Given the description of an element on the screen output the (x, y) to click on. 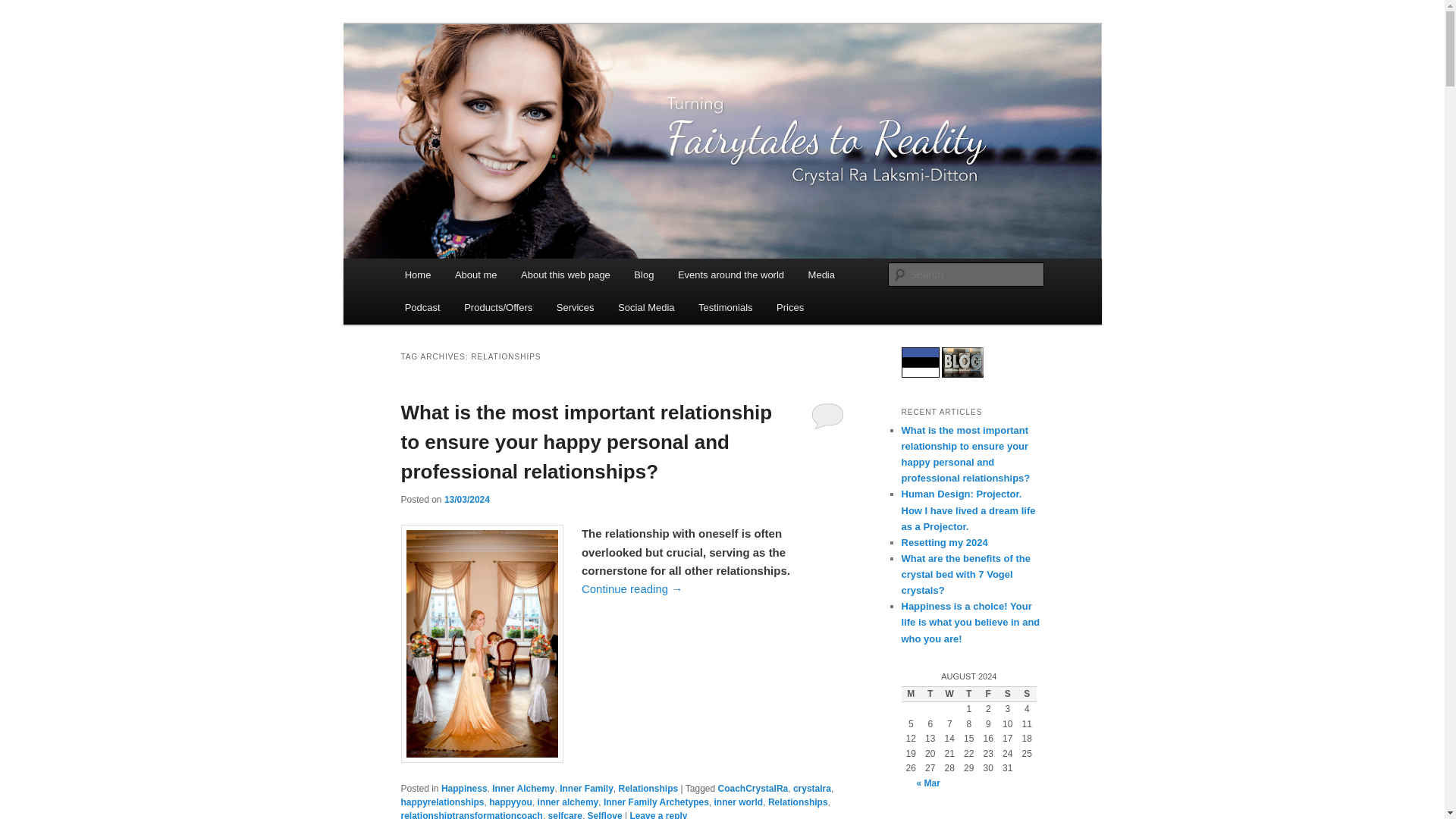
Blog (644, 274)
12:09 (466, 499)
About me (475, 274)
Search (24, 8)
Media (821, 274)
Services (574, 307)
Home (417, 274)
Podcast (422, 307)
Testimonials (724, 307)
